Given the description of an element on the screen output the (x, y) to click on. 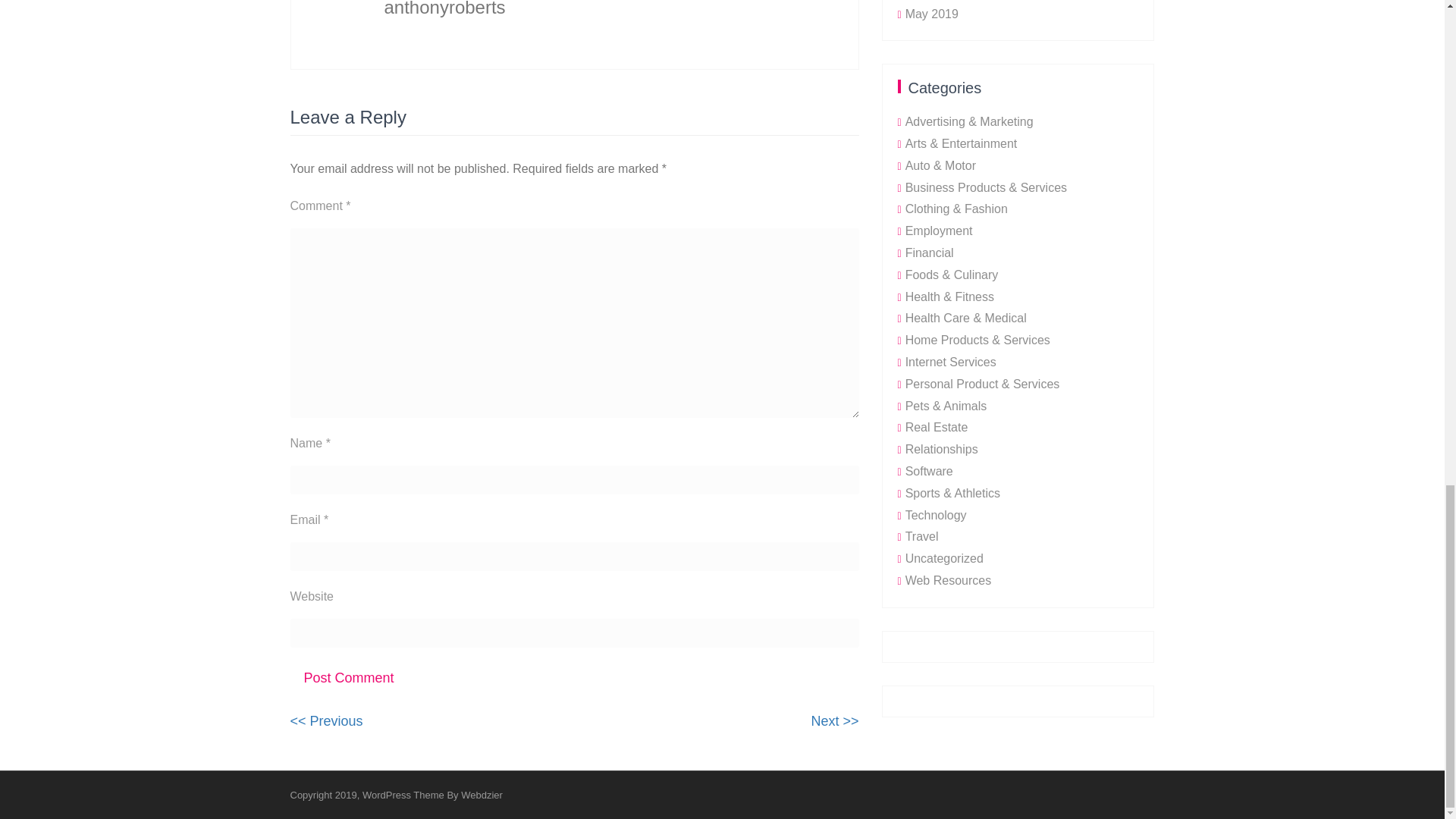
Post Comment (325, 721)
Post Comment (348, 677)
